Given the description of an element on the screen output the (x, y) to click on. 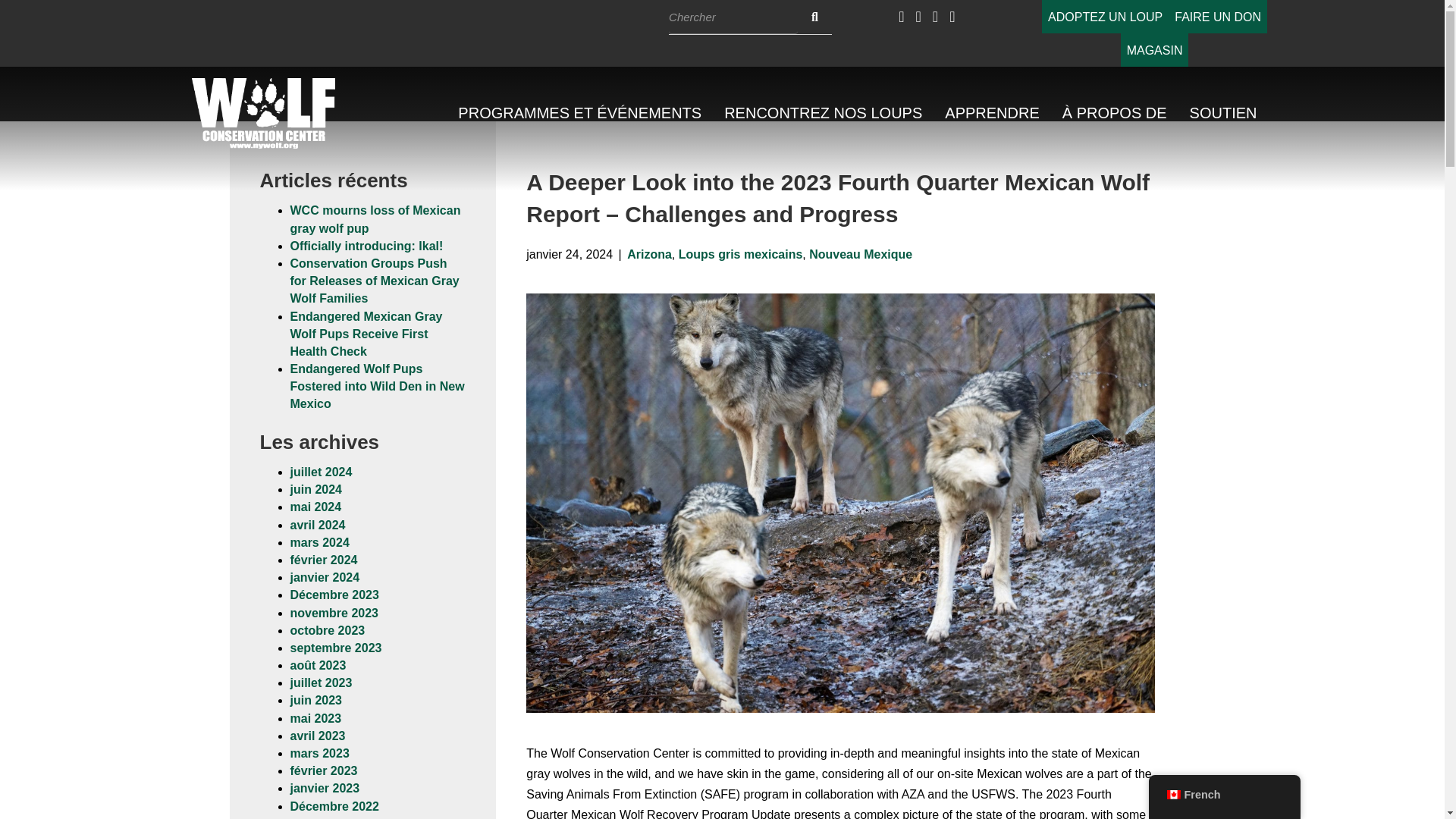
FAIRE UN DON (1217, 16)
Facebook (901, 16)
Instagram (952, 16)
Wcc Logo Blanc (264, 112)
Youtube (935, 16)
MAGASIN (1155, 49)
RENCONTREZ NOS LOUPS (823, 113)
ADOPTEZ UN LOUP (1105, 16)
APPRENDRE (991, 113)
Visitez notre page Twitter (918, 16)
Chercher (732, 17)
Visitez notre page Instagram (952, 16)
Visitez notre page Facebook (901, 16)
Visitez notre page YouTube (935, 16)
